Given the description of an element on the screen output the (x, y) to click on. 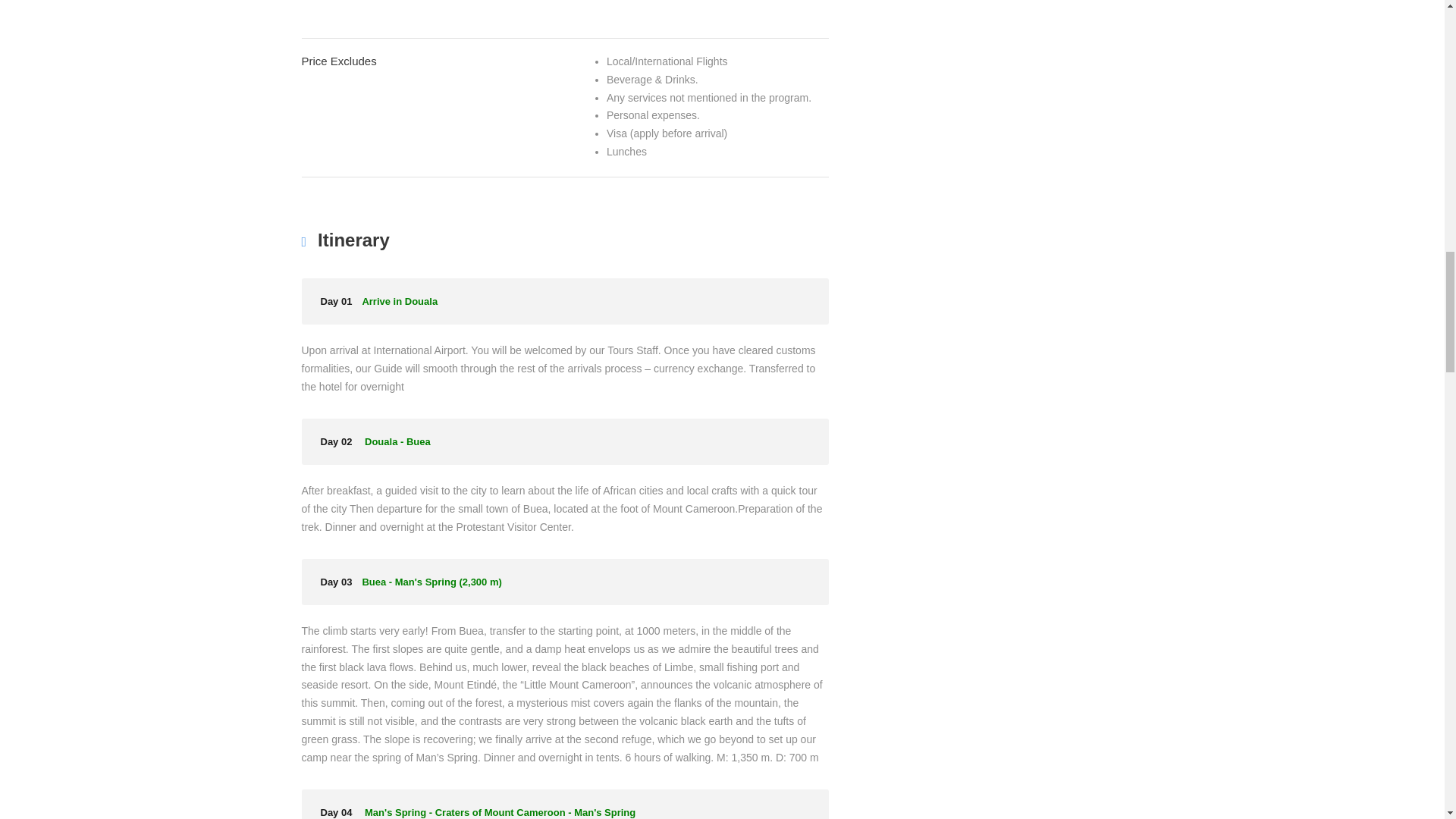
Page 14 (703, 2)
